Given the description of an element on the screen output the (x, y) to click on. 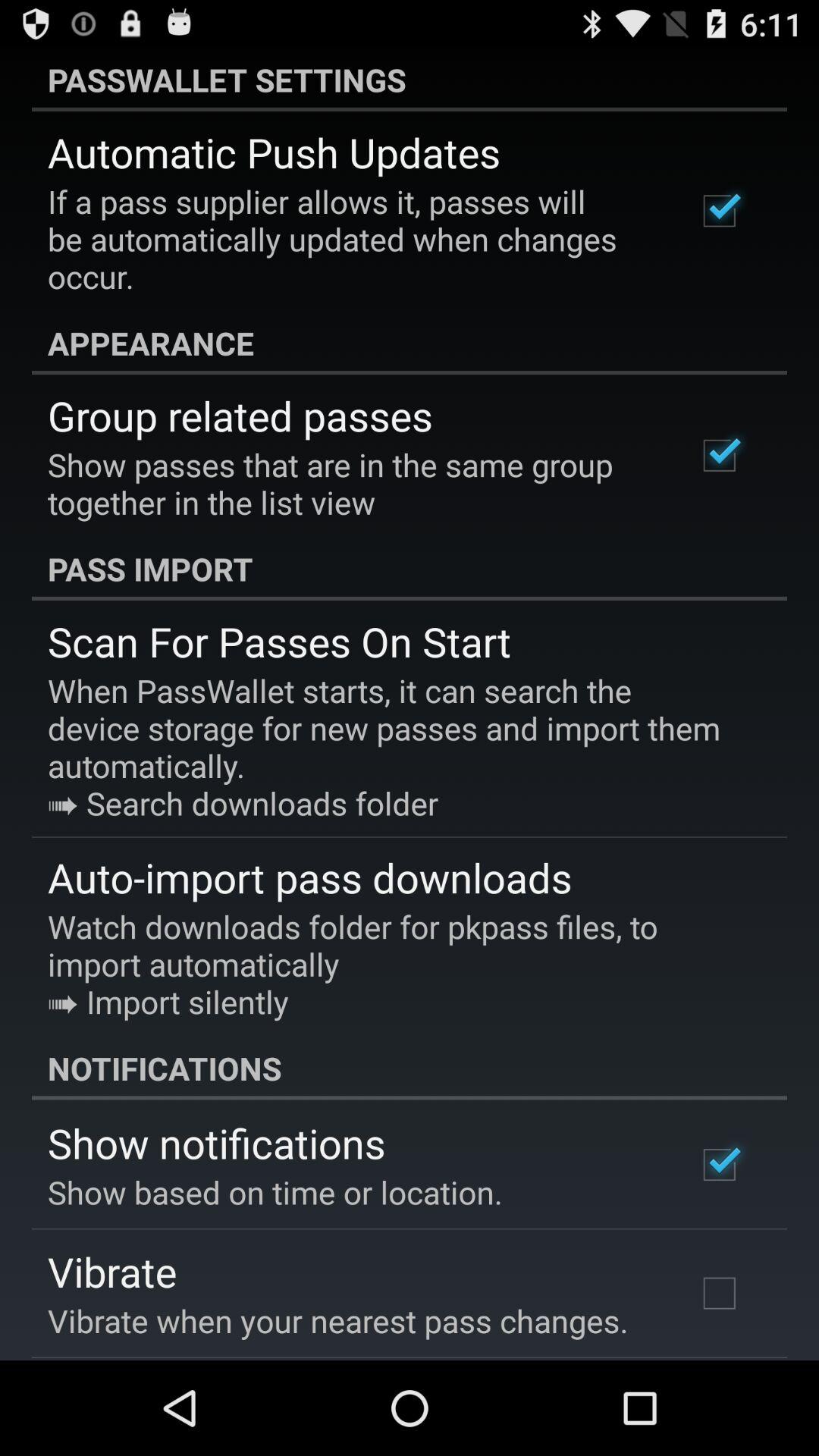
turn on the icon below show notifications app (274, 1191)
